Given the description of an element on the screen output the (x, y) to click on. 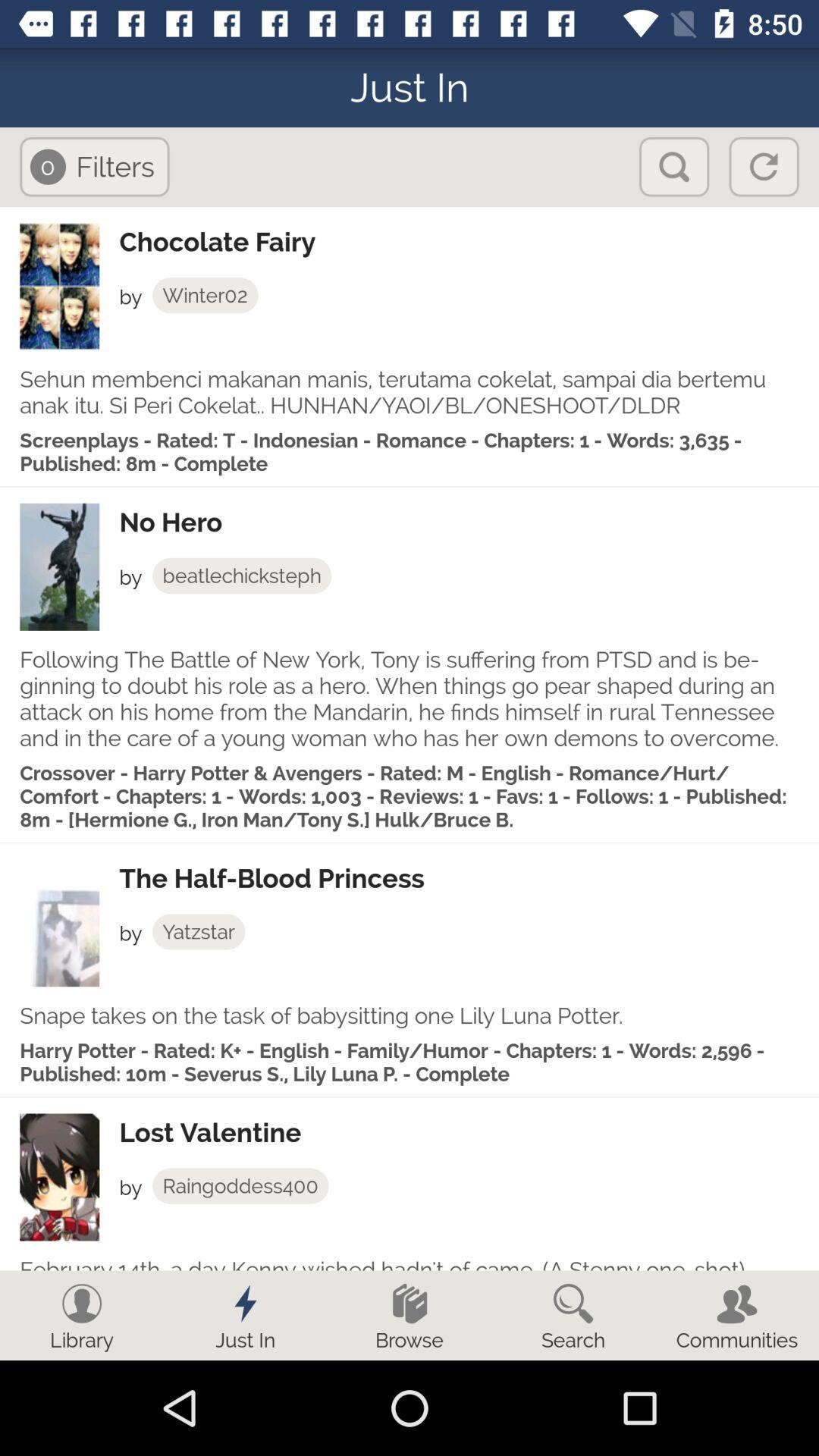
choose item next to the by icon (240, 1186)
